Given the description of an element on the screen output the (x, y) to click on. 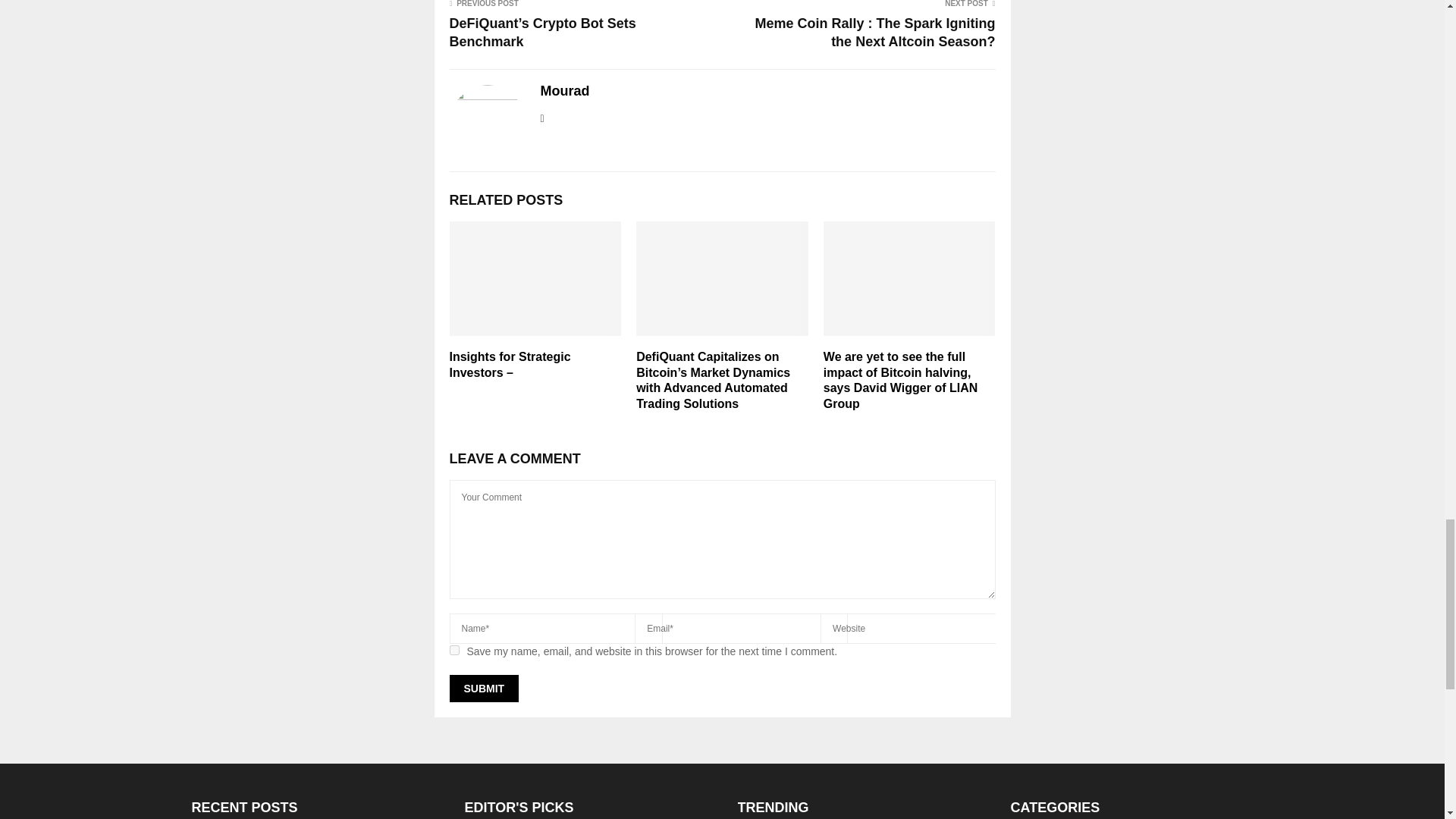
Submit (483, 687)
yes (453, 650)
